Given the description of an element on the screen output the (x, y) to click on. 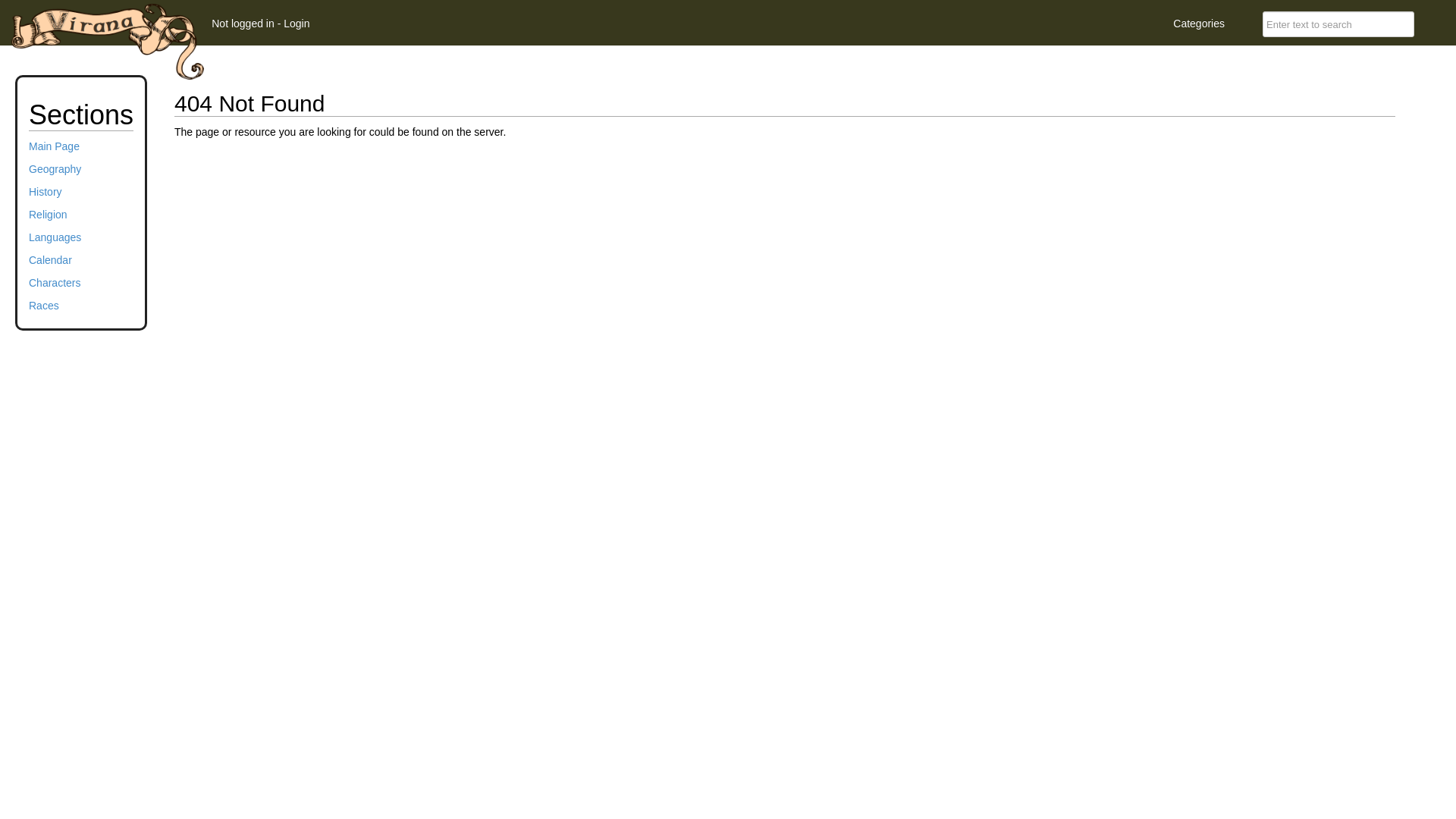
Login Element type: text (296, 23)
Main Page Element type: text (53, 146)
Languages Element type: text (54, 237)
Religion Element type: text (47, 214)
Calendar Element type: text (50, 260)
Geography Element type: text (54, 169)
Categories Element type: text (1198, 23)
Characters Element type: text (54, 282)
History Element type: text (45, 191)
Races Element type: text (43, 305)
